Given the description of an element on the screen output the (x, y) to click on. 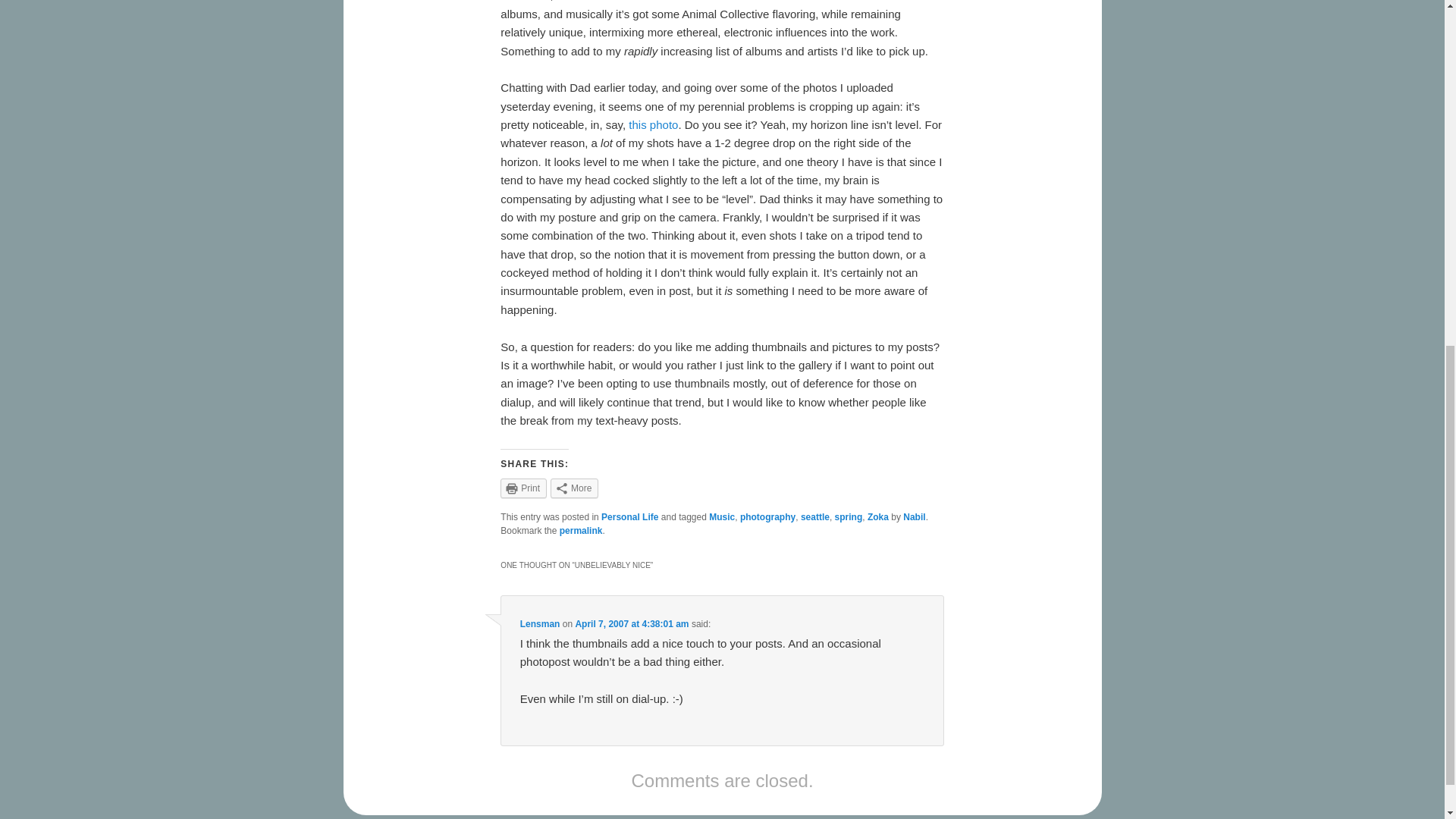
Music (722, 516)
permalink (580, 530)
Personal Life (629, 516)
Lensman (539, 624)
Print (523, 487)
April 7, 2007 at 4:38:01 am (631, 624)
Zoka (877, 516)
seattle (814, 516)
Click to print (523, 487)
spring (848, 516)
